Given the description of an element on the screen output the (x, y) to click on. 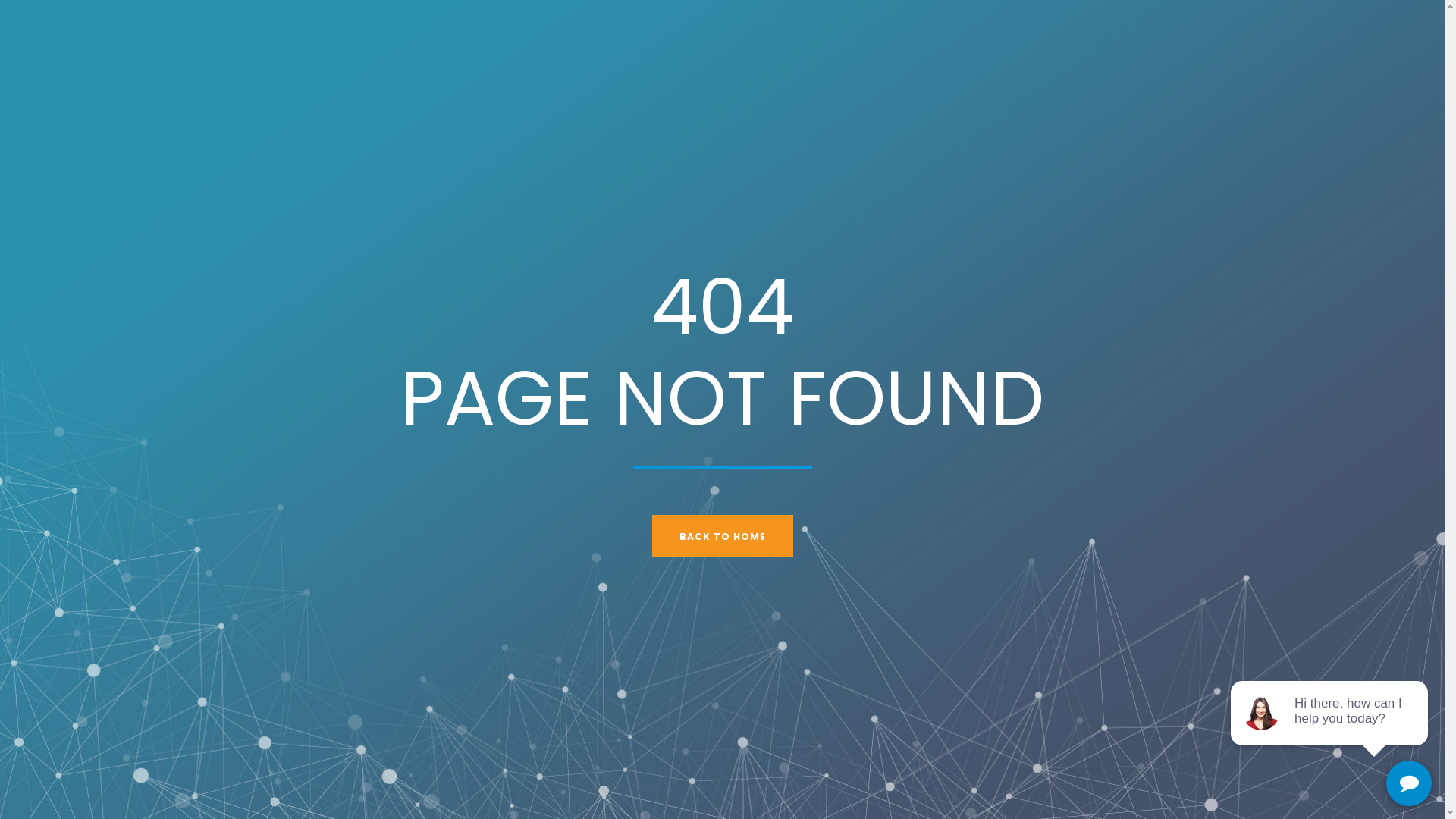
BACK TO HOME Element type: text (722, 535)
